Given the description of an element on the screen output the (x, y) to click on. 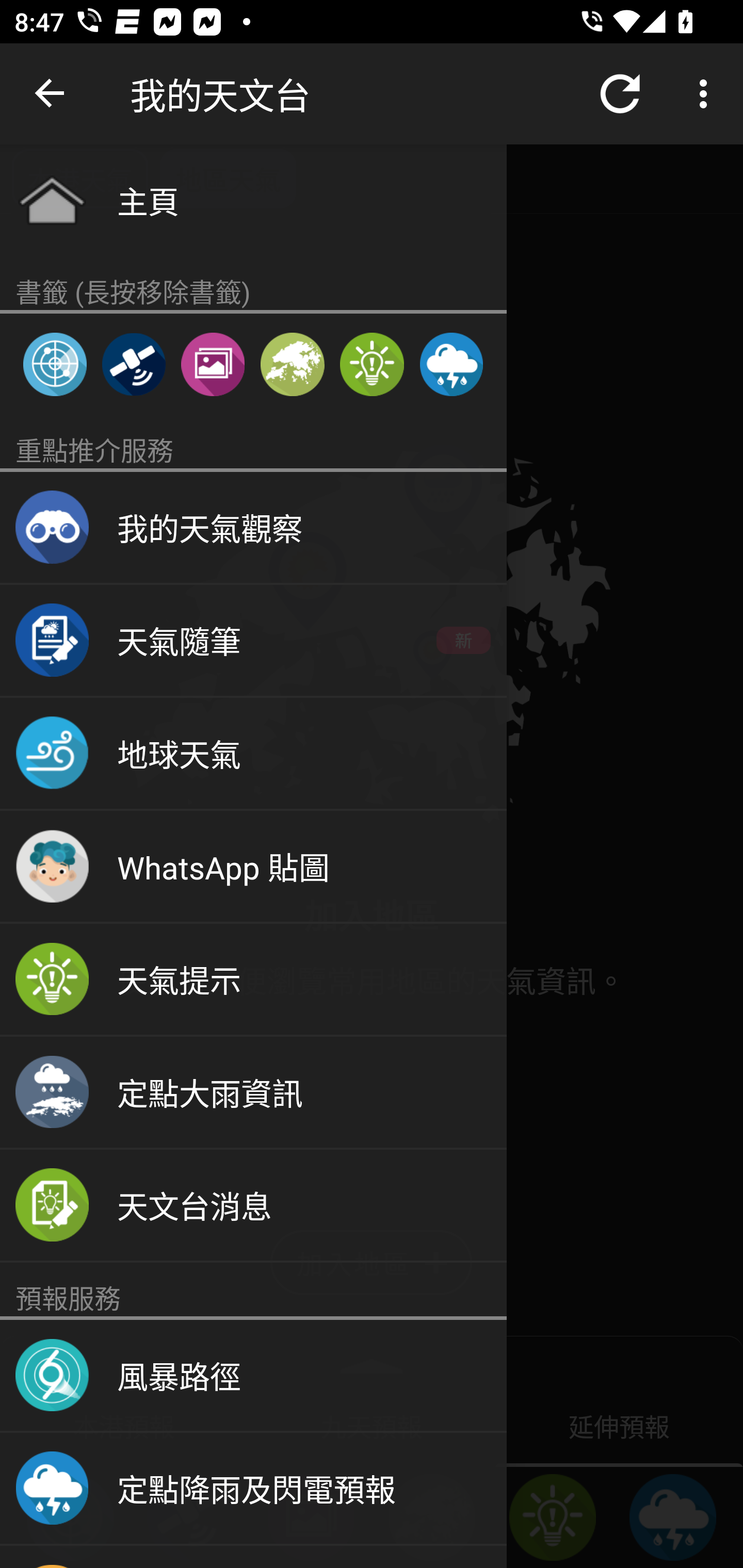
向上瀏覽 (50, 93)
重新整理 (619, 93)
更多選項 (706, 93)
主頁 (253, 199)
雷達圖像 (54, 364)
衛星圖像 (133, 364)
天氣照片 (212, 364)
分區天氣 (292, 364)
天氣提示 (371, 364)
定點降雨及閃電預報 (451, 364)
我的天氣觀察 (253, 527)
天氣隨筆 新功能 (253, 640)
地球天氣 (253, 753)
WhatsApp 貼圖 (253, 866)
天氣提示 (253, 979)
定點大雨資訊 (253, 1092)
天文台消息 (253, 1205)
風暴路徑 (253, 1375)
定點降雨及閃電預報 (253, 1488)
